Given the description of an element on the screen output the (x, y) to click on. 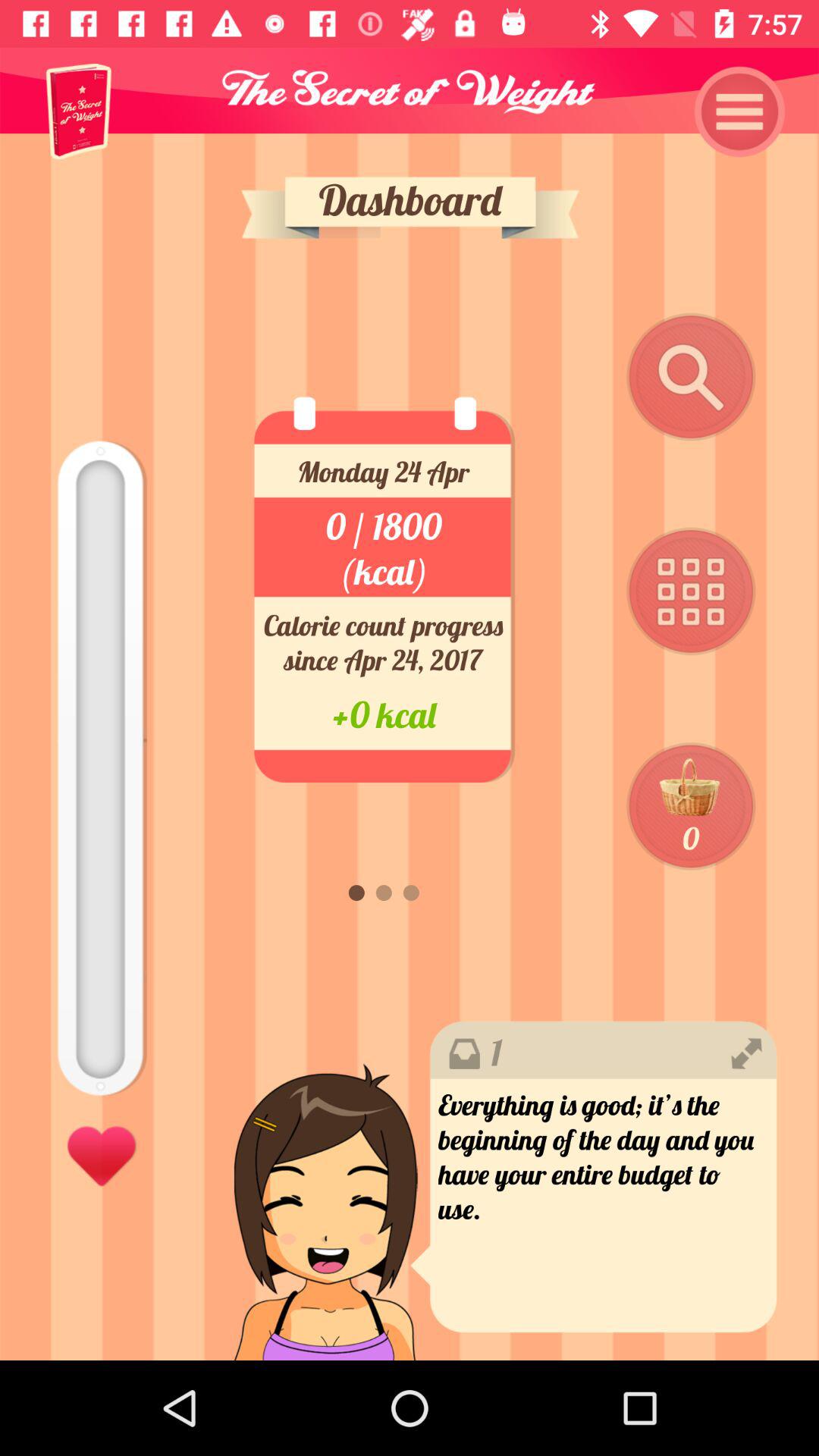
open icon above 1 item (690, 806)
